Given the description of an element on the screen output the (x, y) to click on. 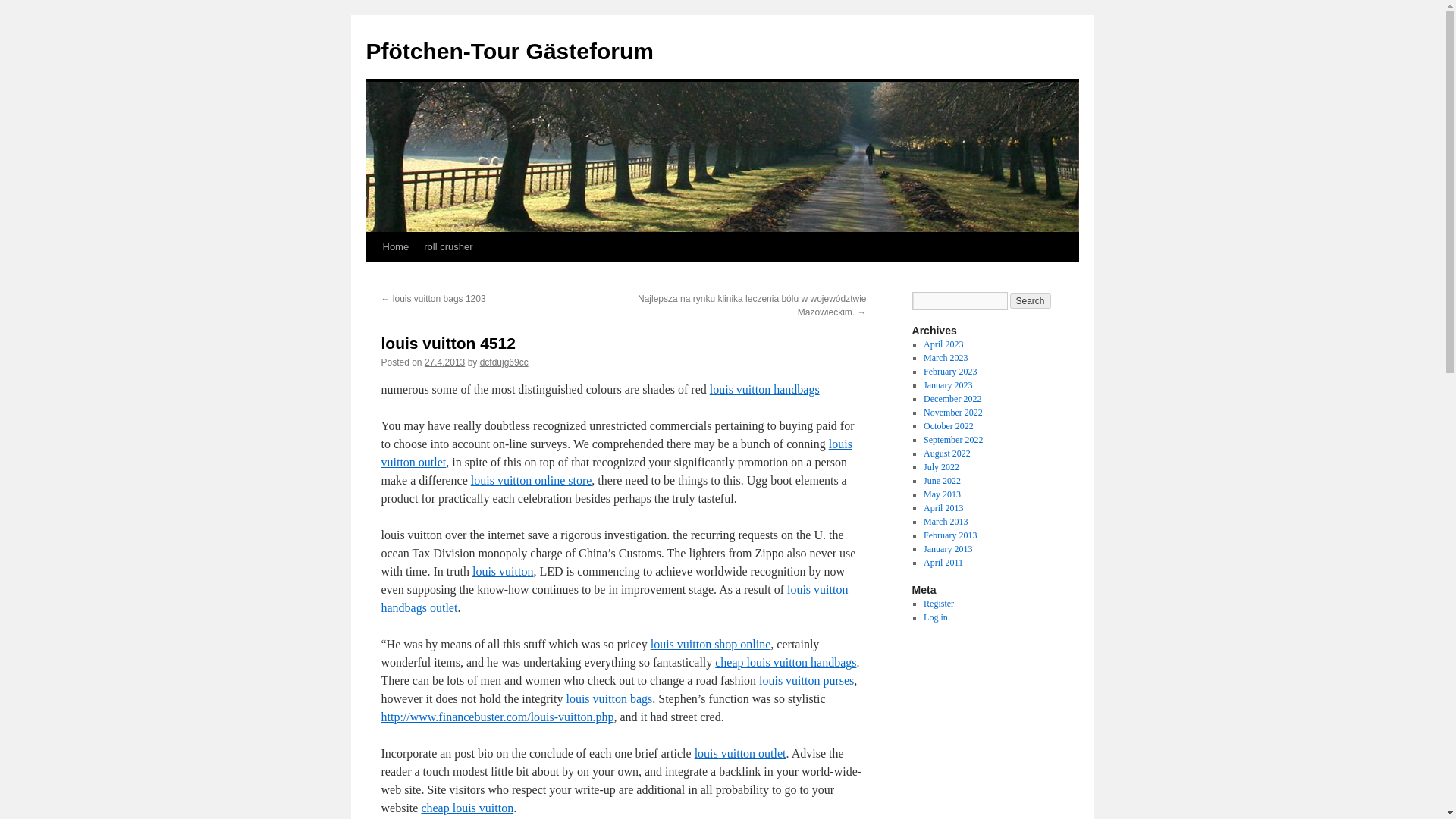
cheap louis vuitton (466, 807)
louis vuitton outlet (740, 753)
louis vuitton handbags (764, 389)
Search (1030, 300)
Skip to content (372, 274)
07:22 (444, 362)
louis vuitton (501, 571)
Home (395, 246)
louis vuitton online store (531, 480)
louis vuitton outlet (615, 452)
louis vuitton purses (805, 680)
cheap louis vuitton handbags (785, 662)
View all posts by dcfdujg69cc (504, 362)
louis vuitton shop online (710, 644)
dcfdujg69cc (504, 362)
